Given the description of an element on the screen output the (x, y) to click on. 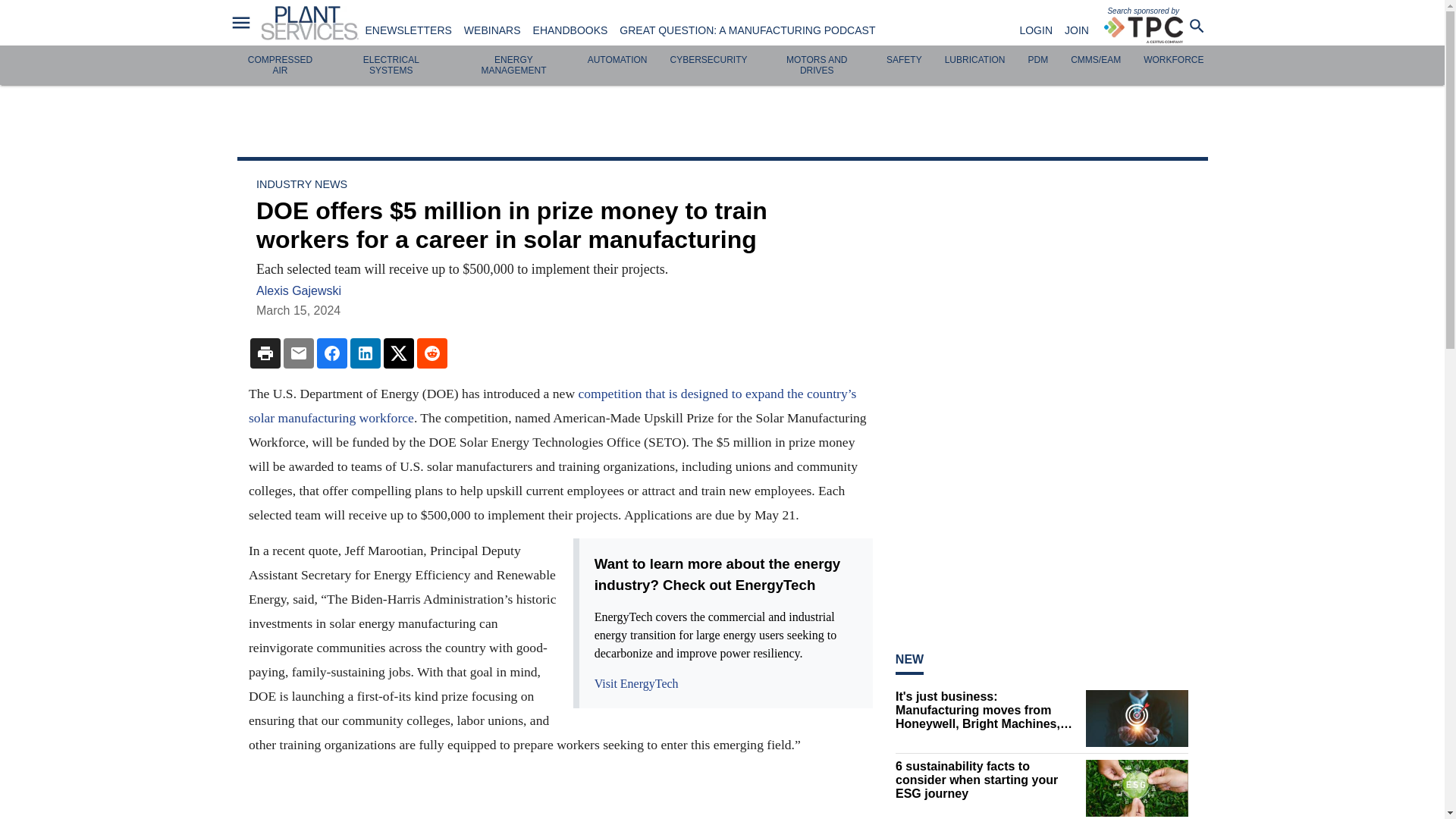
WORKFORCE (1173, 59)
MOTORS AND DRIVES (816, 65)
LUBRICATION (975, 59)
LOGIN (1035, 30)
SAFETY (903, 59)
WEBINARS (492, 30)
GREAT QUESTION: A MANUFACTURING PODCAST (747, 30)
COMPRESSED AIR (280, 65)
EHANDBOOKS (570, 30)
ENEWSLETTERS (408, 30)
AUTOMATION (617, 59)
CYBERSECURITY (708, 59)
PDM (1037, 59)
ENERGY MANAGEMENT (513, 65)
ELECTRICAL SYSTEMS (390, 65)
